Given the description of an element on the screen output the (x, y) to click on. 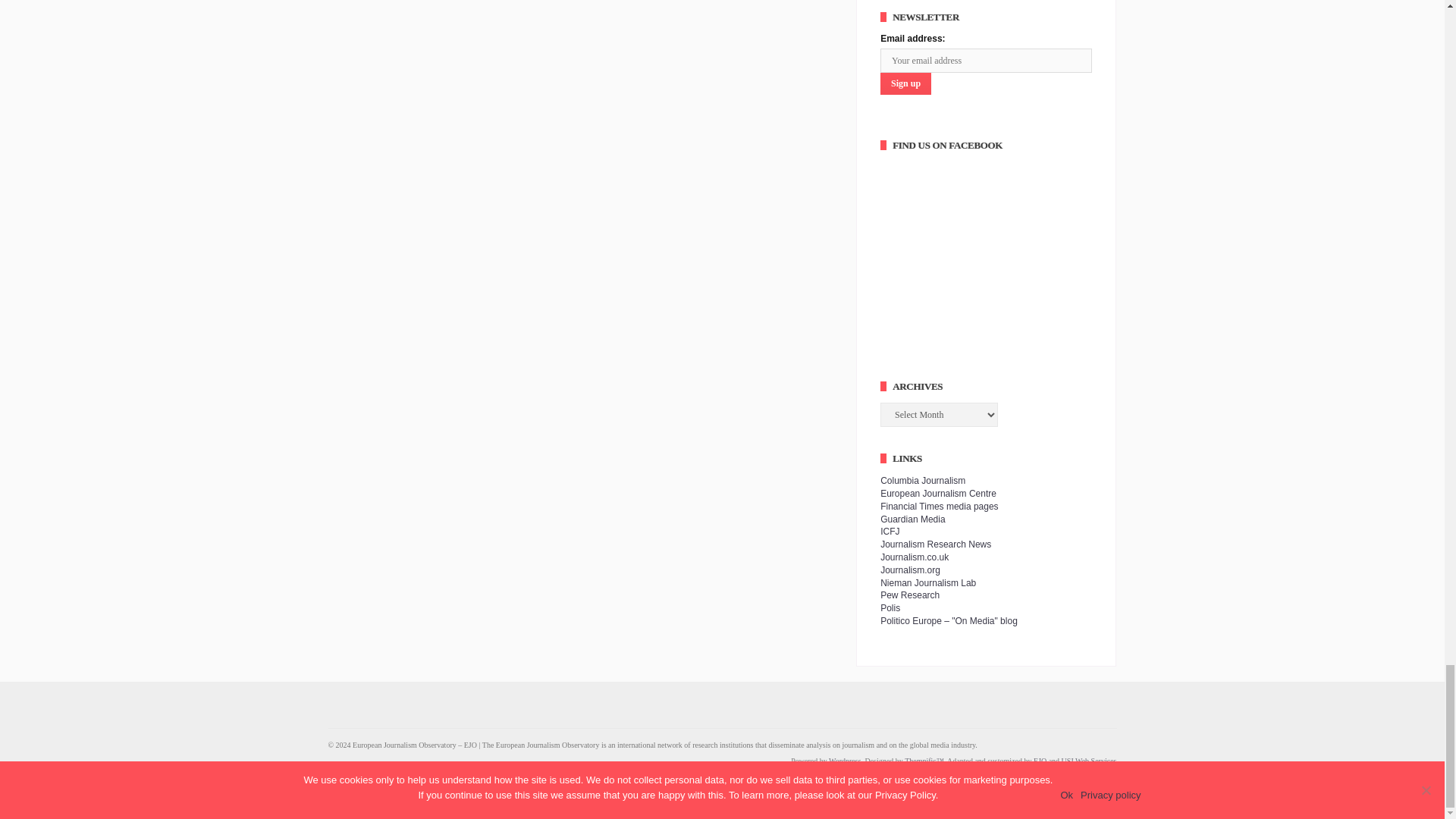
Sign up (905, 83)
